Given the description of an element on the screen output the (x, y) to click on. 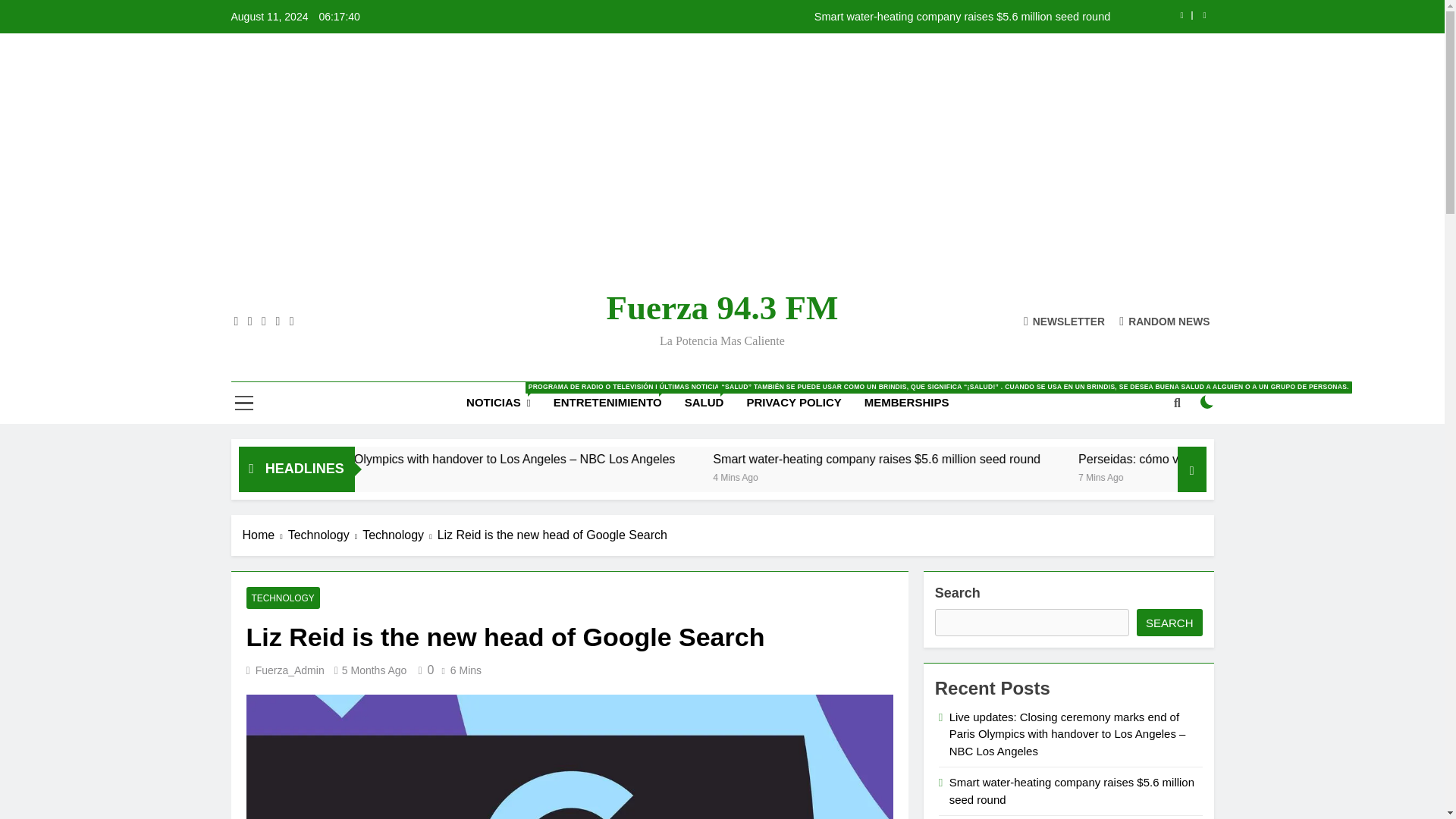
4 Mins Ago (959, 476)
on (1206, 401)
PRIVACY POLICY (793, 402)
NEWSLETTER (1064, 319)
Fuerza 94.3 FM (721, 307)
RANDOM NEWS (1164, 319)
MEMBERSHIPS (906, 402)
